Given the description of an element on the screen output the (x, y) to click on. 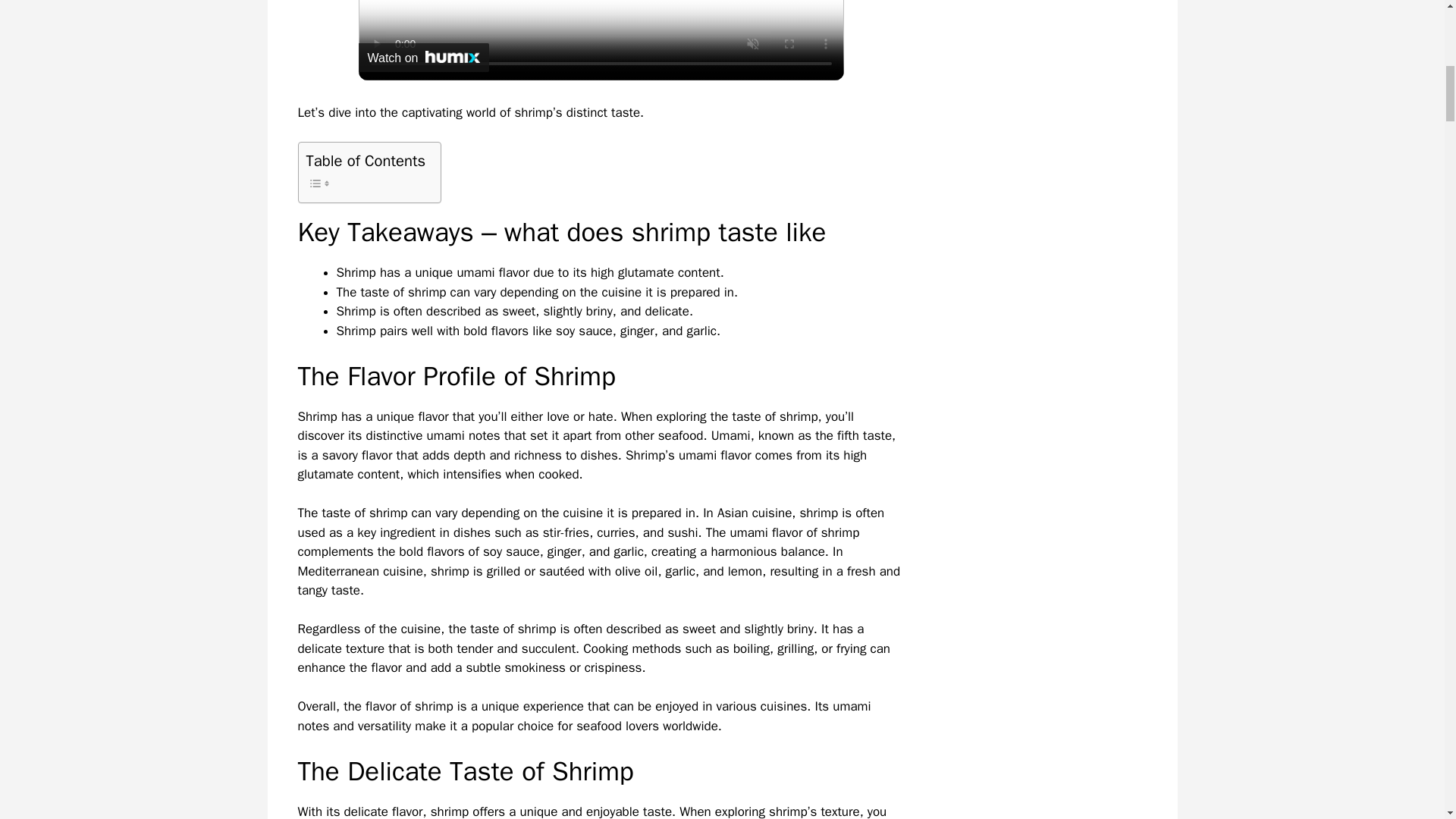
Watch on (422, 57)
